Given the description of an element on the screen output the (x, y) to click on. 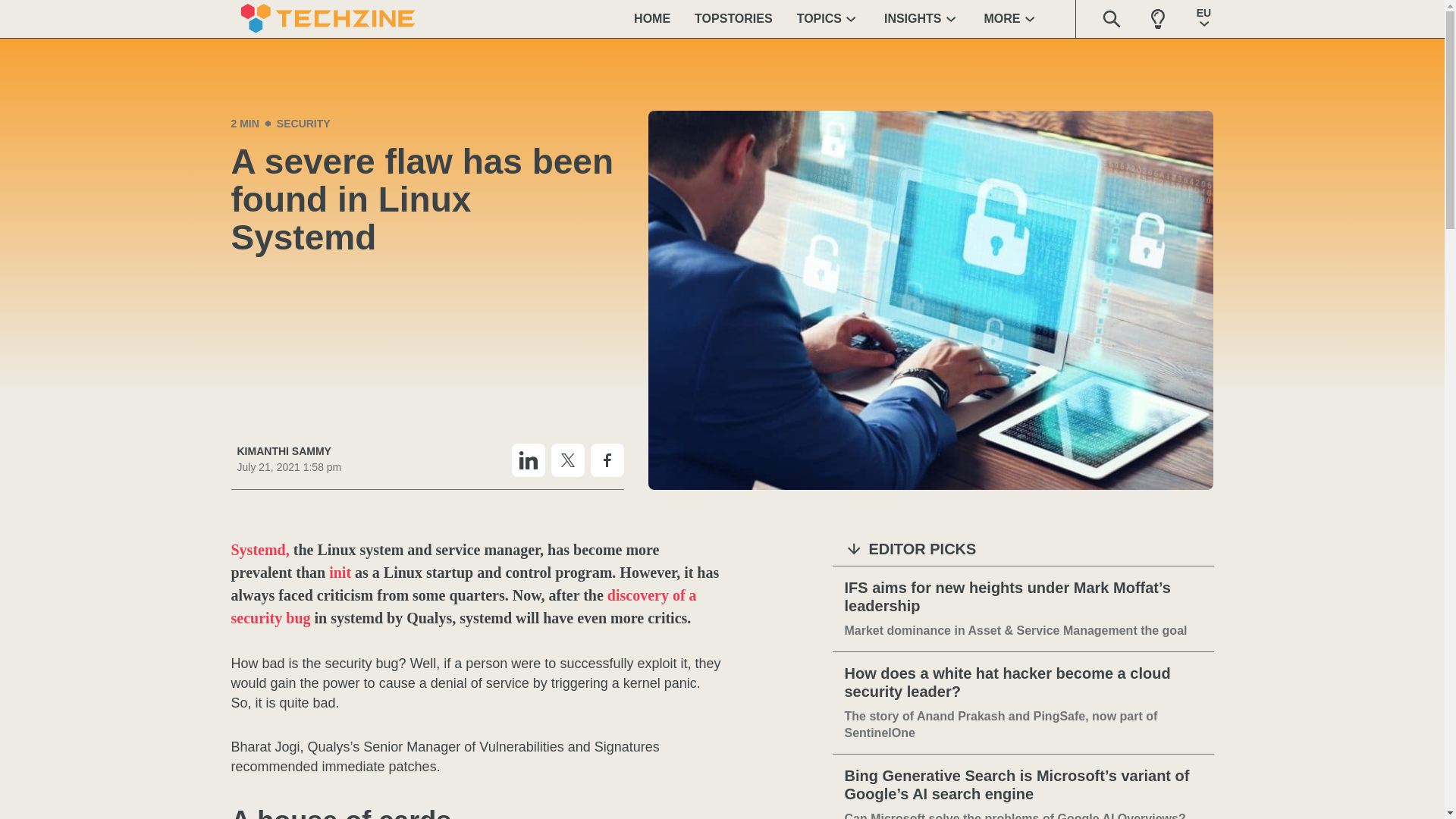
TOPSTORIES (733, 18)
How does a white hat hacker become a cloud security leader? (1023, 682)
MORE (1011, 18)
HOME (651, 18)
KIMANTHI SAMMY (287, 451)
SECURITY (303, 123)
INSIGHTS (922, 18)
TOPICS (828, 18)
July 21, 2021 1:58 pm (287, 467)
